Given the description of an element on the screen output the (x, y) to click on. 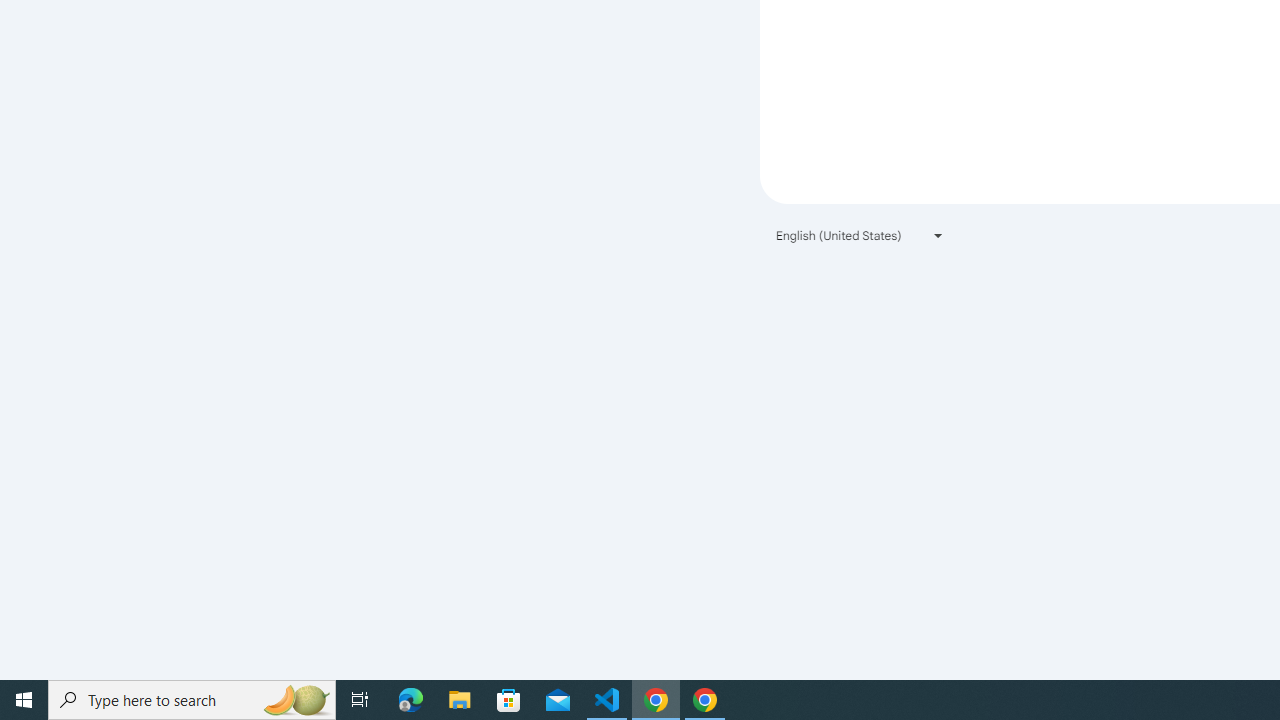
English (United States) (860, 234)
